Given the description of an element on the screen output the (x, y) to click on. 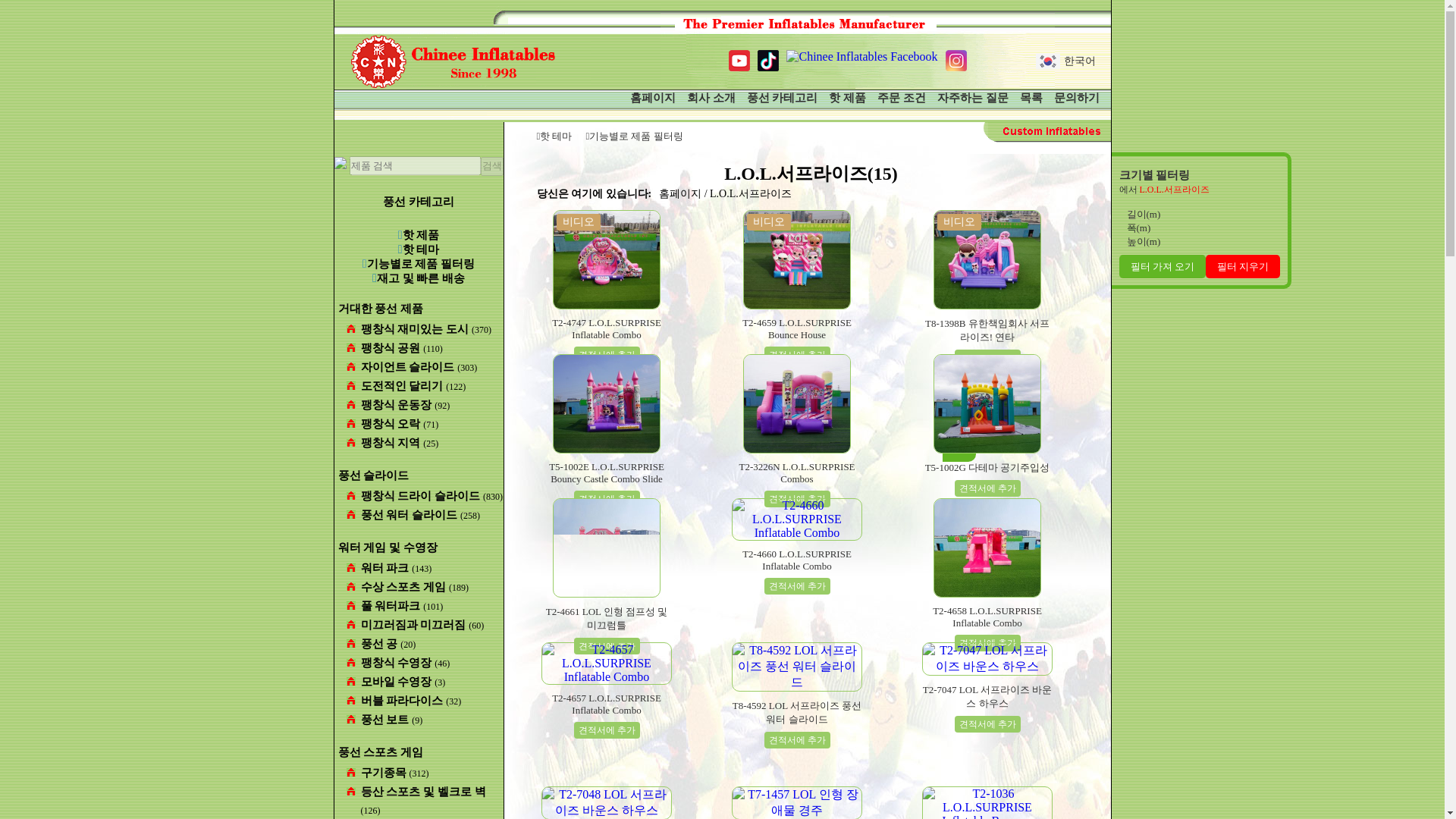
T2-4659 L.O.L.SURPRISE Bounce House (796, 328)
T2-4660 L.O.L.SURPRISE Inflatable Combo (796, 559)
T5-1002E L.O.L.SURPRISE Bouncy Castle Combo Slide (606, 473)
T2-4657 L.O.L.SURPRISE Inflatable Combo (606, 704)
T2-4658 L.O.L.SURPRISE Inflatable Combo (986, 617)
T2-3226N L.O.L.SURPRISE Combos (796, 473)
T2-4747 L.O.L.SURPRISE Inflatable Combo (606, 328)
